Given the description of an element on the screen output the (x, y) to click on. 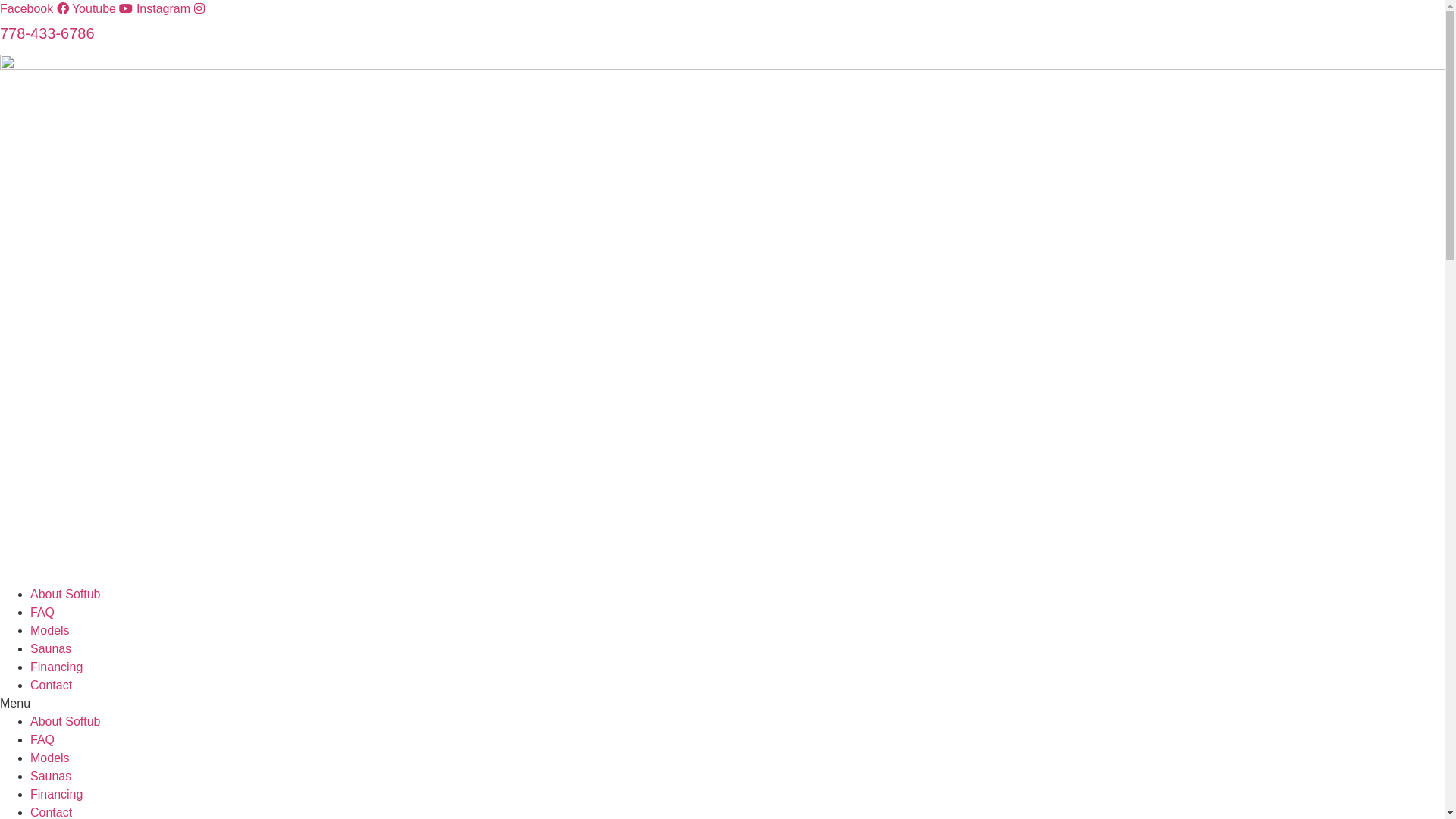
About Softub Element type: text (65, 593)
Models Element type: text (49, 630)
Financing Element type: text (56, 666)
Models Element type: text (49, 757)
Financing Element type: text (56, 793)
About Softub Element type: text (65, 721)
Contact Element type: text (51, 684)
Saunas Element type: text (50, 775)
Instagram Element type: text (170, 8)
778-433-6786 Element type: text (47, 33)
FAQ Element type: text (42, 739)
FAQ Element type: text (42, 611)
Youtube Element type: text (104, 8)
Saunas Element type: text (50, 648)
Facebook Element type: text (36, 8)
